Given the description of an element on the screen output the (x, y) to click on. 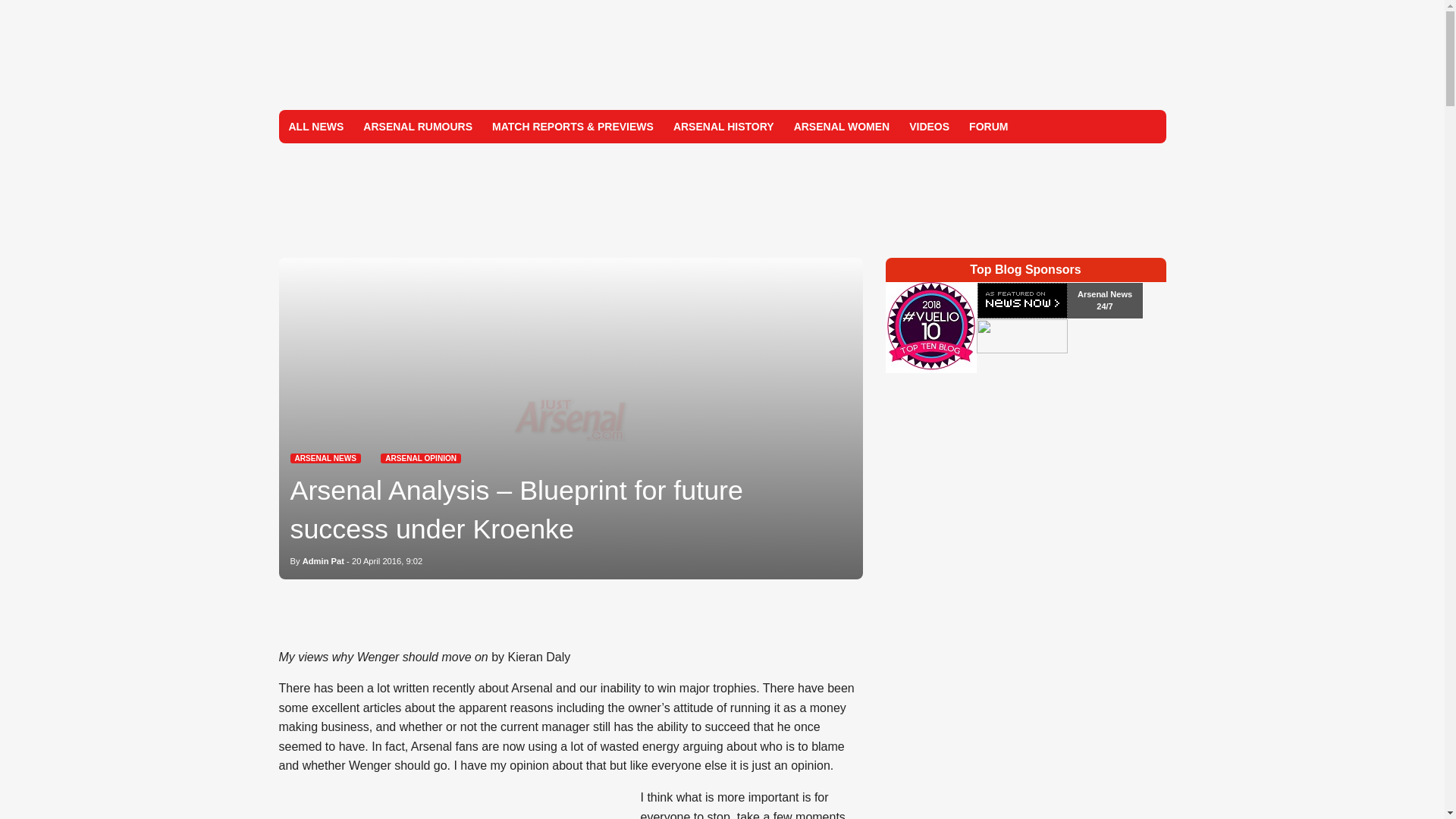
ARSENAL HISTORY (723, 126)
FORUM (988, 126)
Latest Arsenal opinion News (420, 458)
20 April 2016, 9:02 (387, 560)
Latest Arsenal News News (325, 458)
ALL NEWS (316, 126)
ARSENAL WOMEN (841, 126)
Admin Pat (322, 560)
VIDEOS (929, 126)
Search (1147, 126)
